Given the description of an element on the screen output the (x, y) to click on. 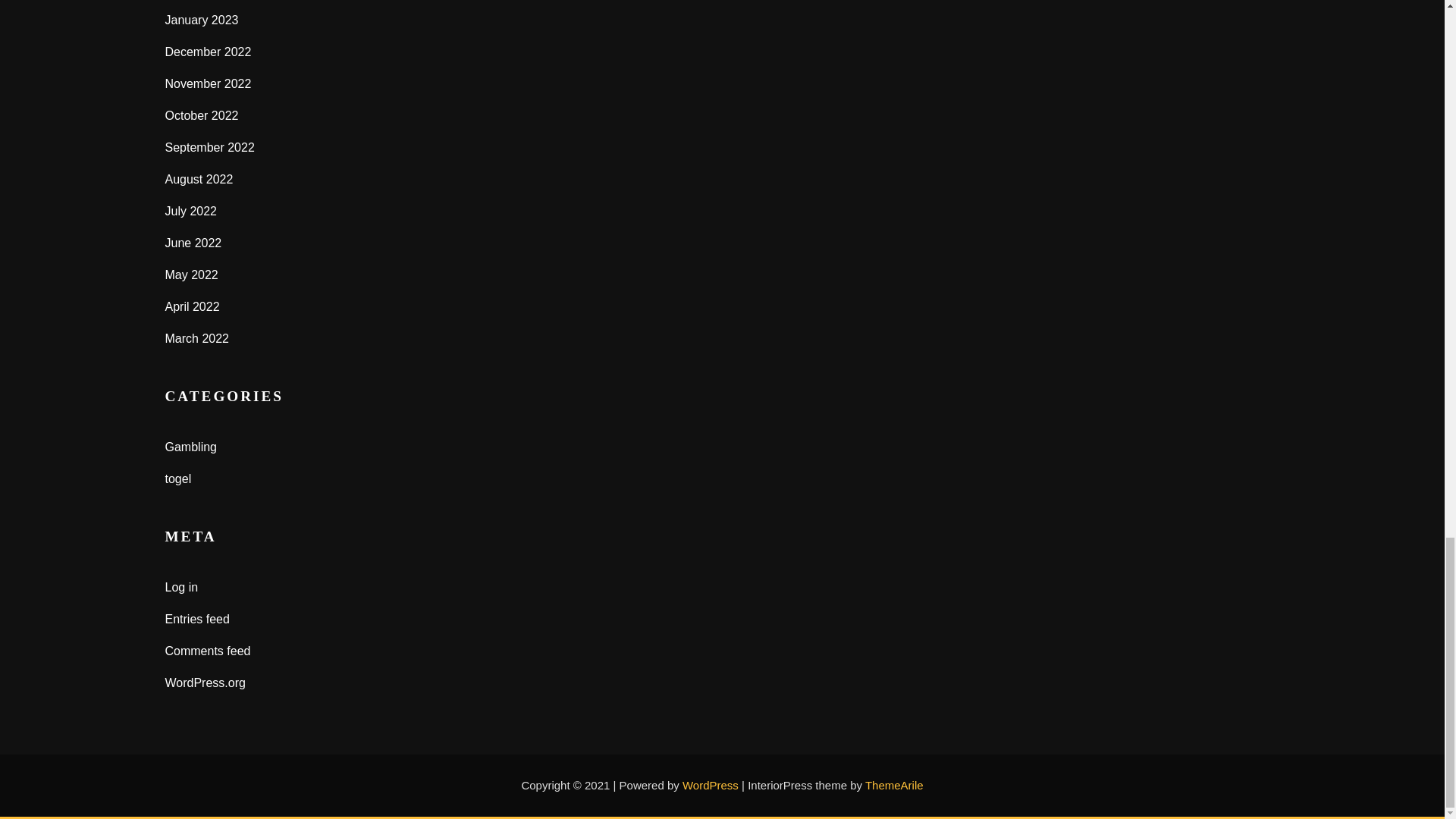
September 2022 (209, 146)
April 2022 (192, 306)
December 2022 (208, 51)
January 2023 (201, 19)
June 2022 (193, 242)
May 2022 (191, 274)
March 2022 (197, 338)
November 2022 (208, 83)
Gambling (190, 446)
July 2022 (190, 210)
October 2022 (201, 115)
August 2022 (198, 178)
